Given the description of an element on the screen output the (x, y) to click on. 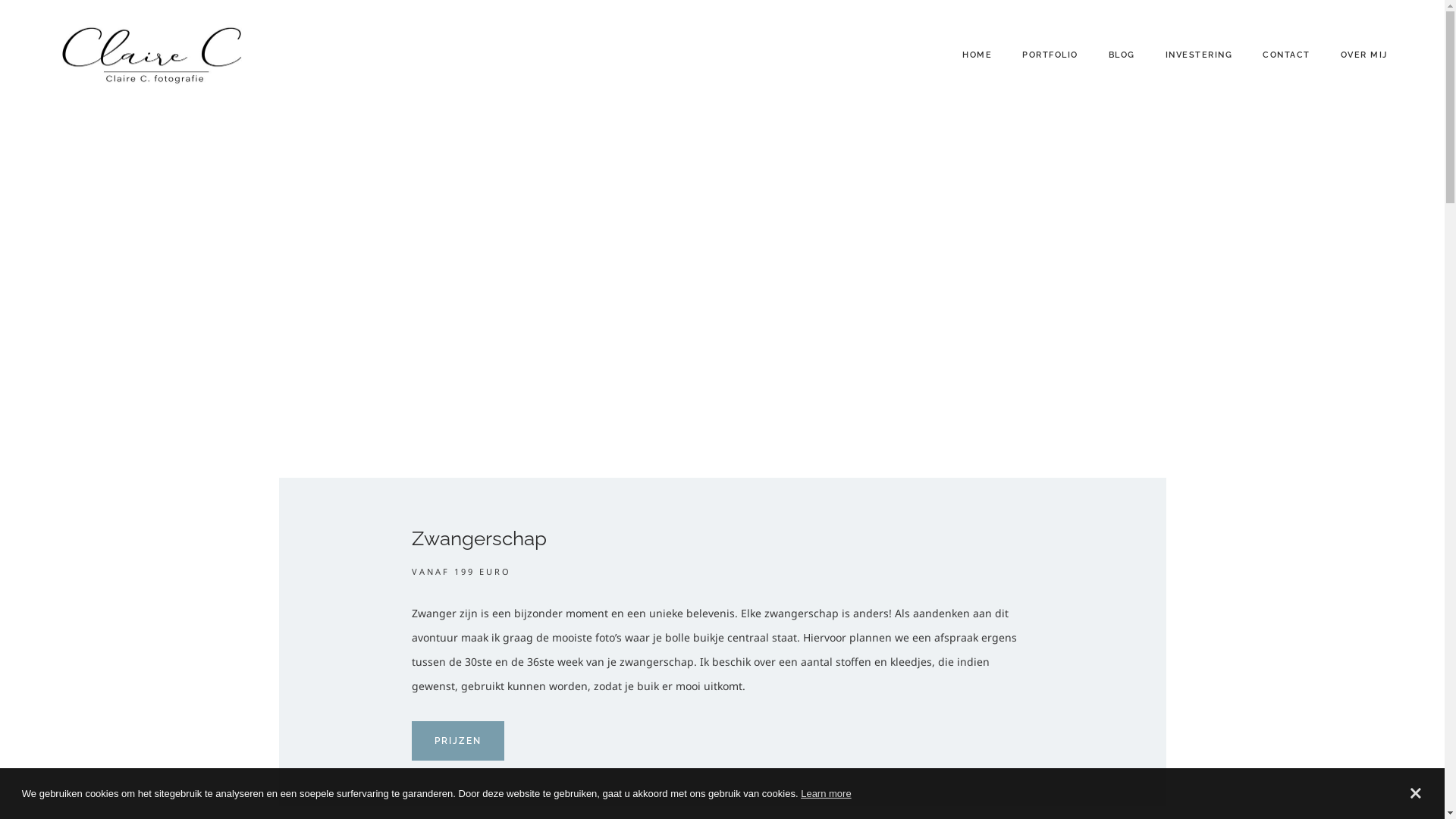
PORTFOLIO Element type: text (1049, 55)
CONTACT Element type: text (1286, 55)
Learn more Element type: text (825, 793)
OVER MIJ Element type: text (1364, 55)
PRIJZEN Element type: text (457, 740)
BLOG Element type: text (1121, 55)
INVESTERING Element type: text (1198, 55)
HOME Element type: text (976, 55)
